Given the description of an element on the screen output the (x, y) to click on. 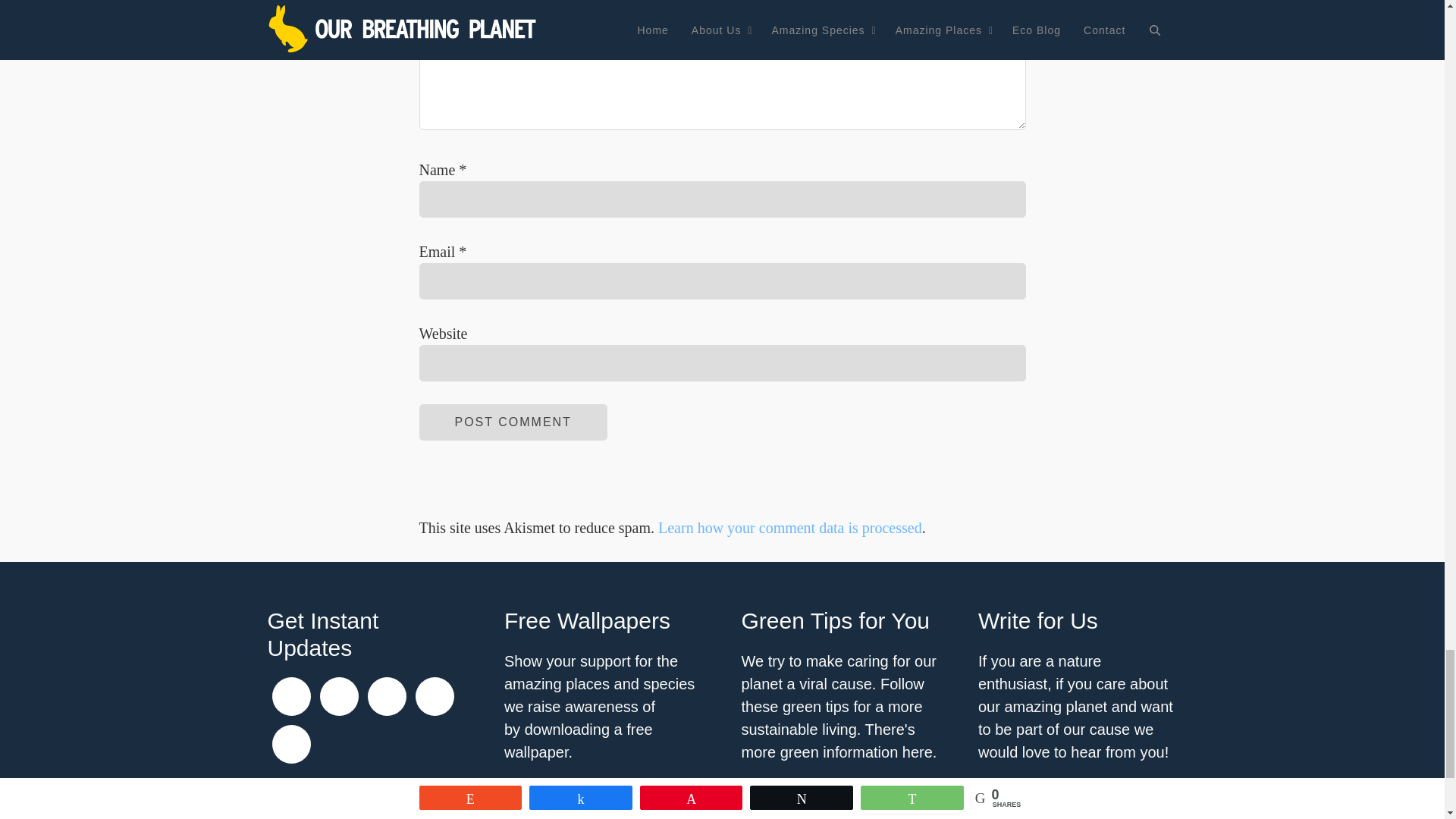
Post Comment (513, 422)
